Given the description of an element on the screen output the (x, y) to click on. 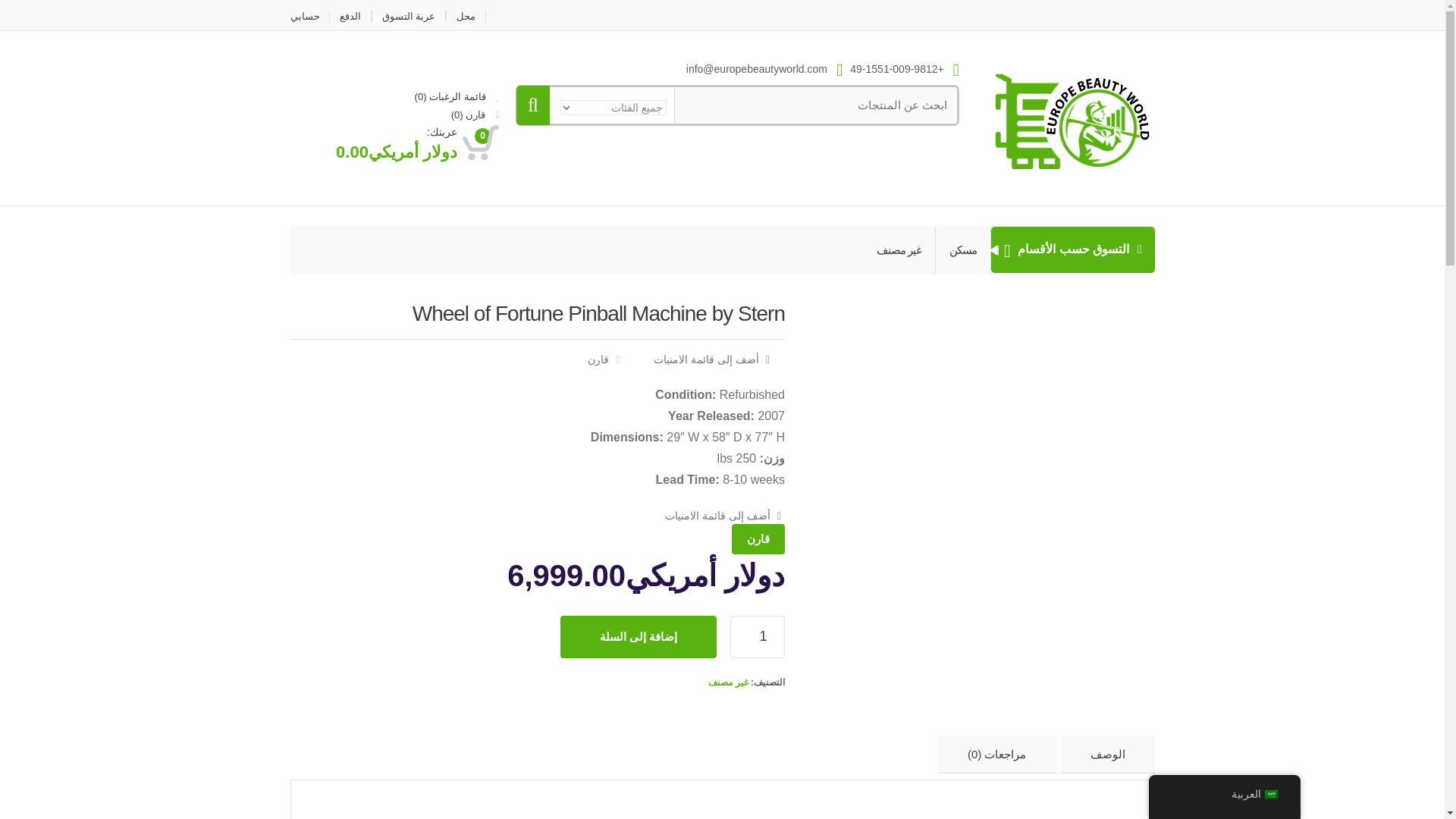
1 (757, 636)
